Given the description of an element on the screen output the (x, y) to click on. 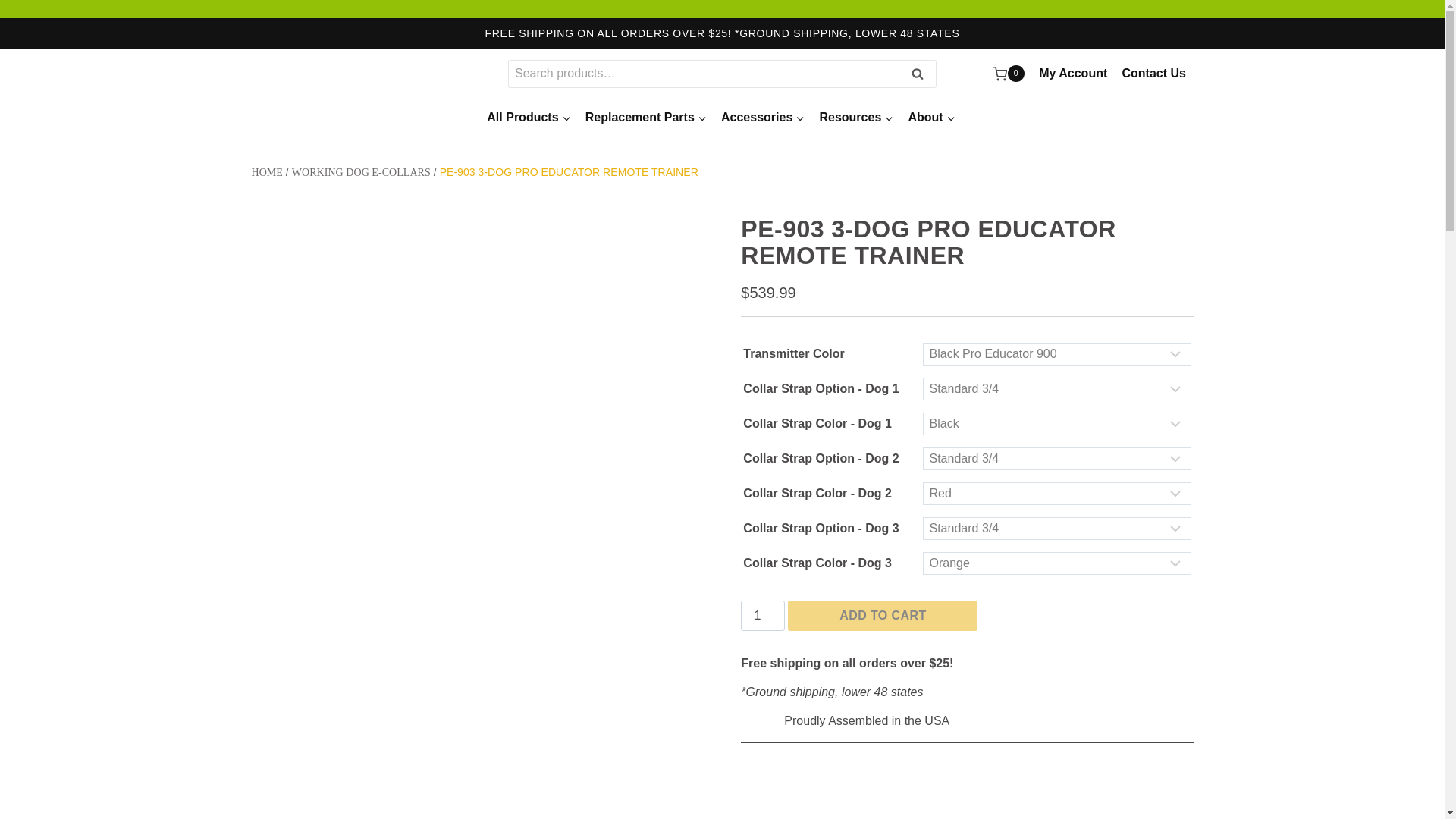
Replacement Parts (645, 117)
1 (762, 615)
Contact Us (1154, 73)
About (931, 117)
Search (917, 73)
0 (1008, 73)
Resources (856, 117)
My Account (1073, 73)
Accessories (761, 117)
All Products (529, 117)
